Given the description of an element on the screen output the (x, y) to click on. 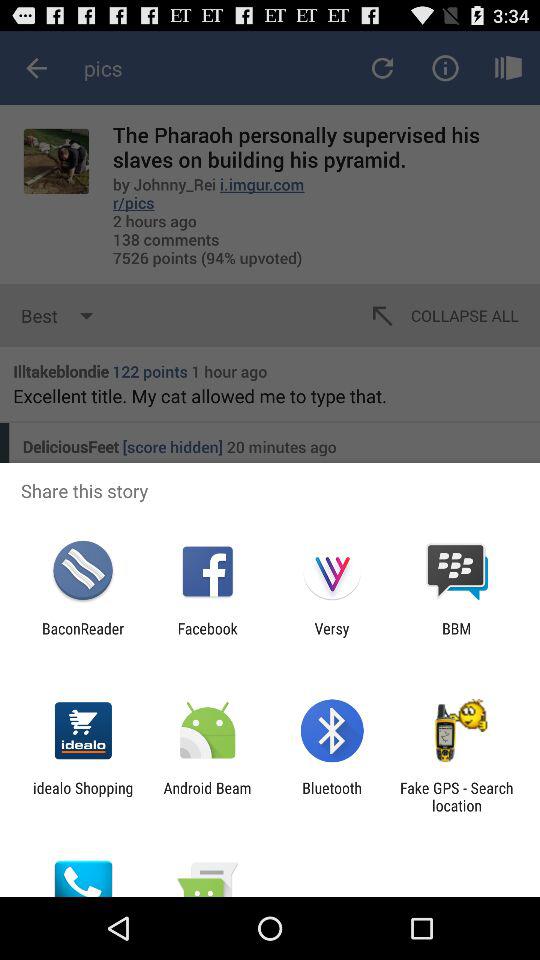
tap icon to the left of the facebook item (83, 637)
